Given the description of an element on the screen output the (x, y) to click on. 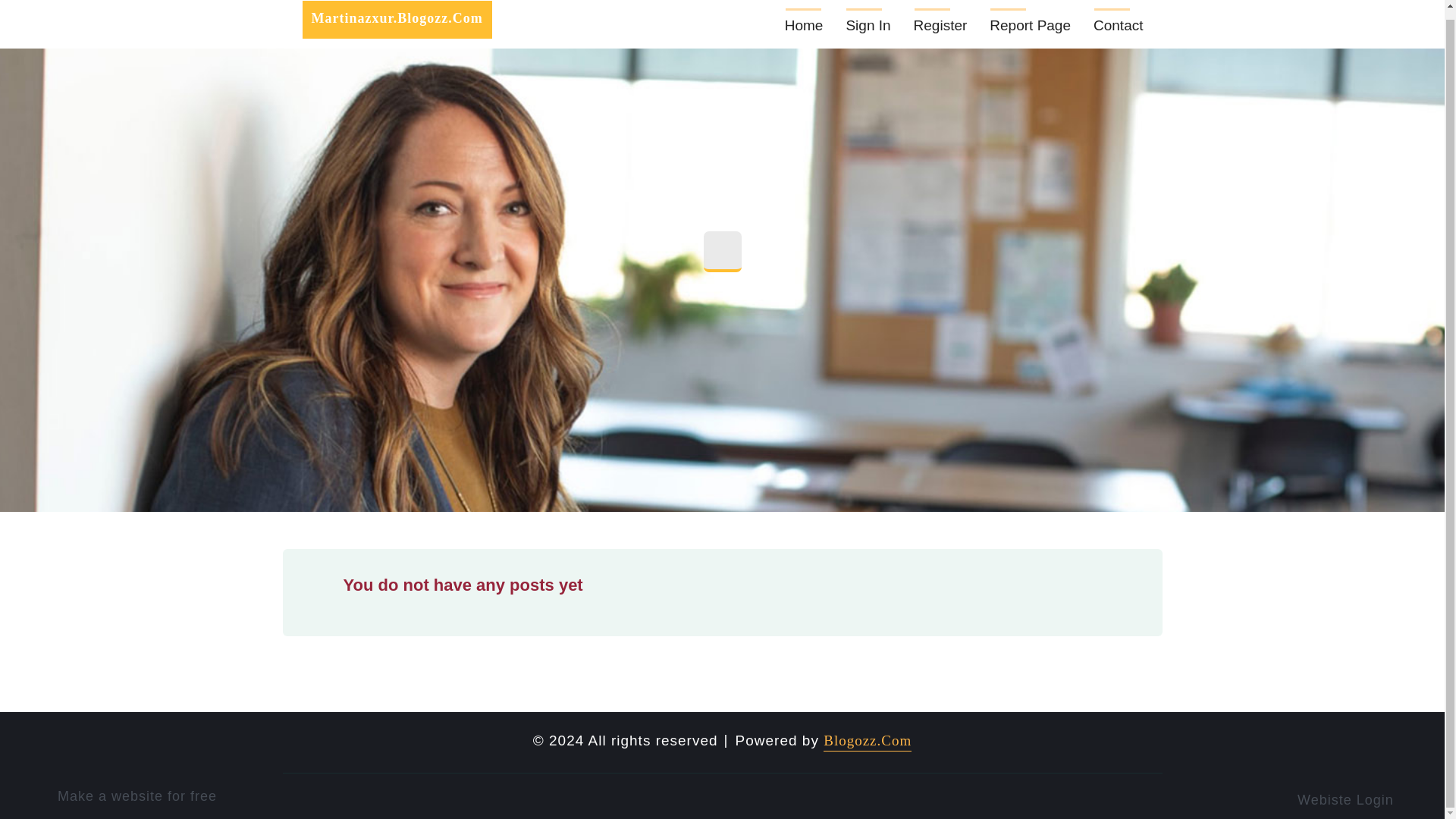
Make a website for free (141, 795)
Sign In (867, 24)
Contact (1117, 24)
Report Page (1029, 24)
Blogozz.Com (867, 741)
Home (803, 24)
Martinazxur.Blogozz.Com (396, 19)
Register (940, 24)
Webiste Login (1355, 798)
